Given the description of an element on the screen output the (x, y) to click on. 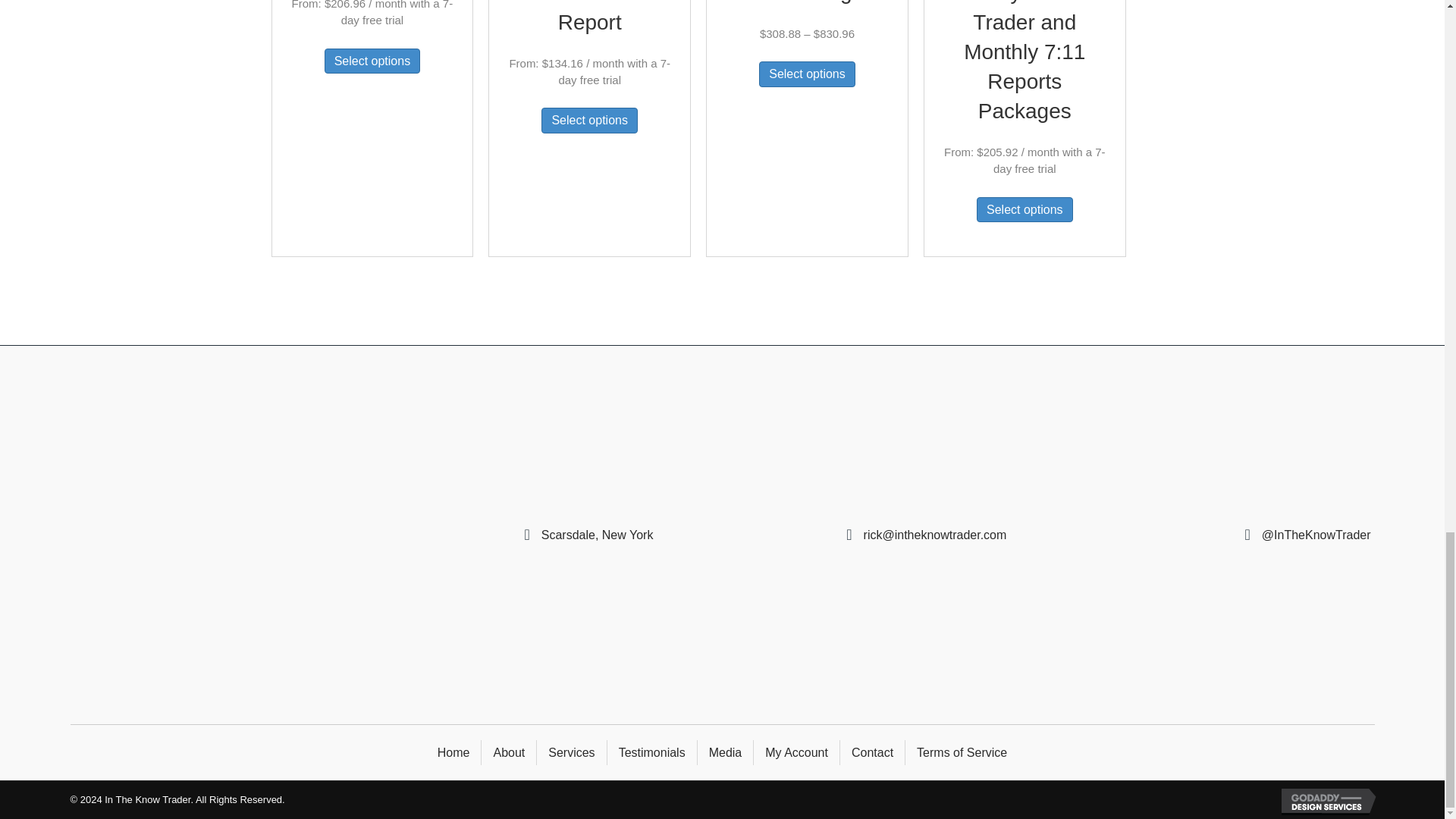
itkt-logo-horizontal-light (239, 530)
